Given the description of an element on the screen output the (x, y) to click on. 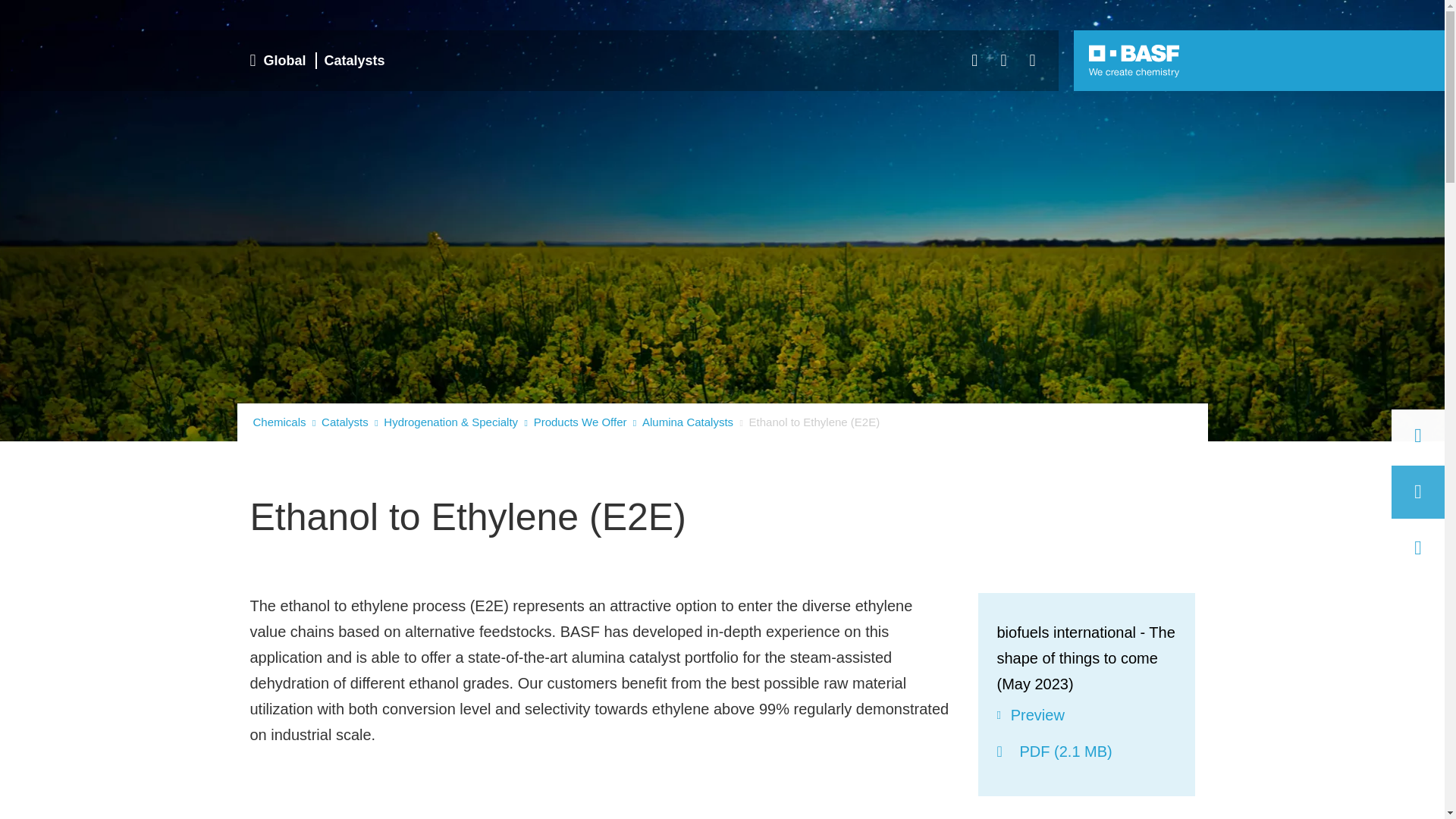
Go to shop (317, 60)
Get in touch (1417, 435)
